Given the description of an element on the screen output the (x, y) to click on. 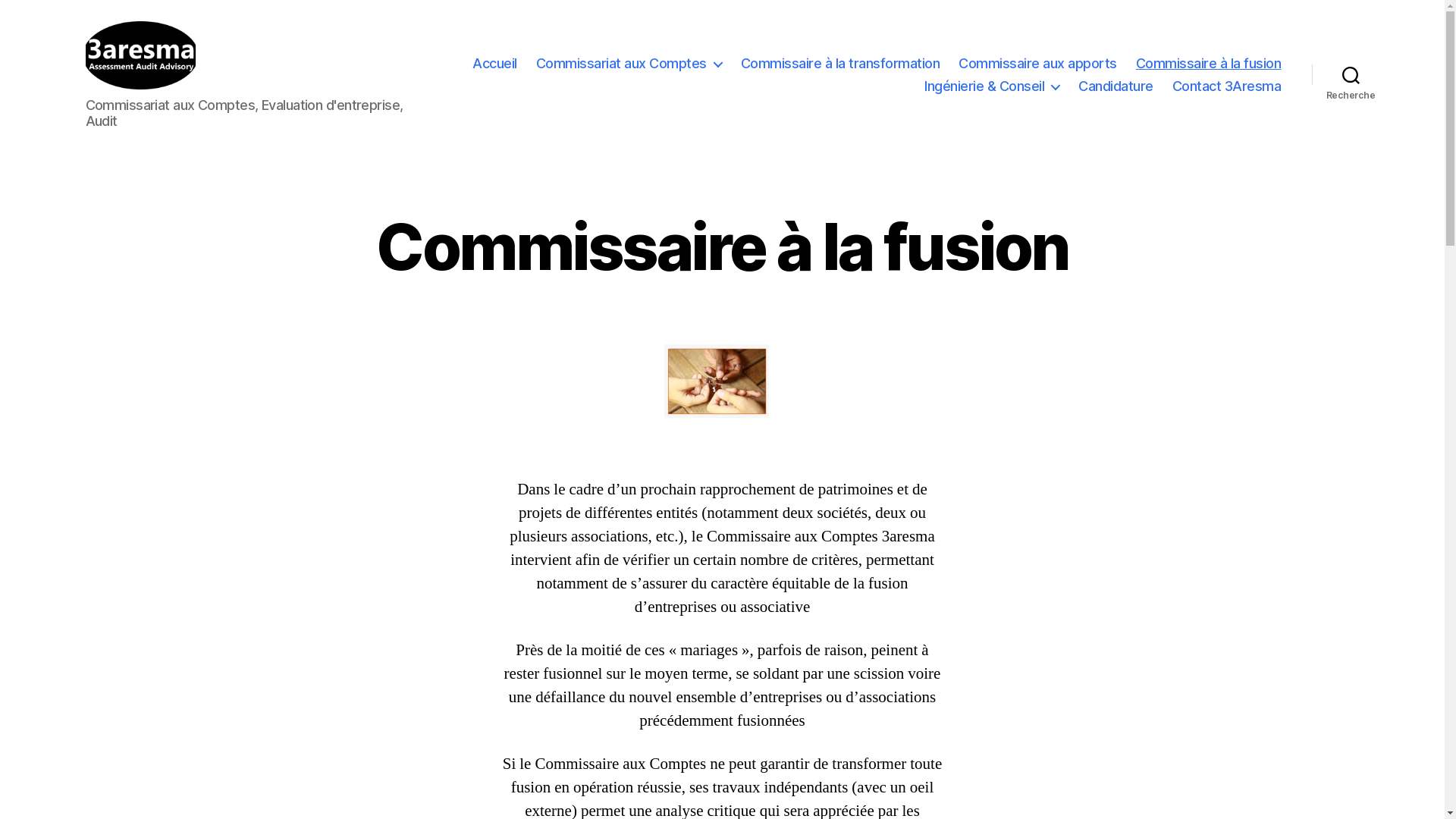
Recherche Element type: text (1350, 74)
Candidature Element type: text (1115, 86)
Commissariat aux Comptes Element type: text (628, 63)
Accueil Element type: text (494, 63)
Commissaire aux apports Element type: text (1037, 63)
Contact 3Aresma Element type: text (1226, 86)
